Given the description of an element on the screen output the (x, y) to click on. 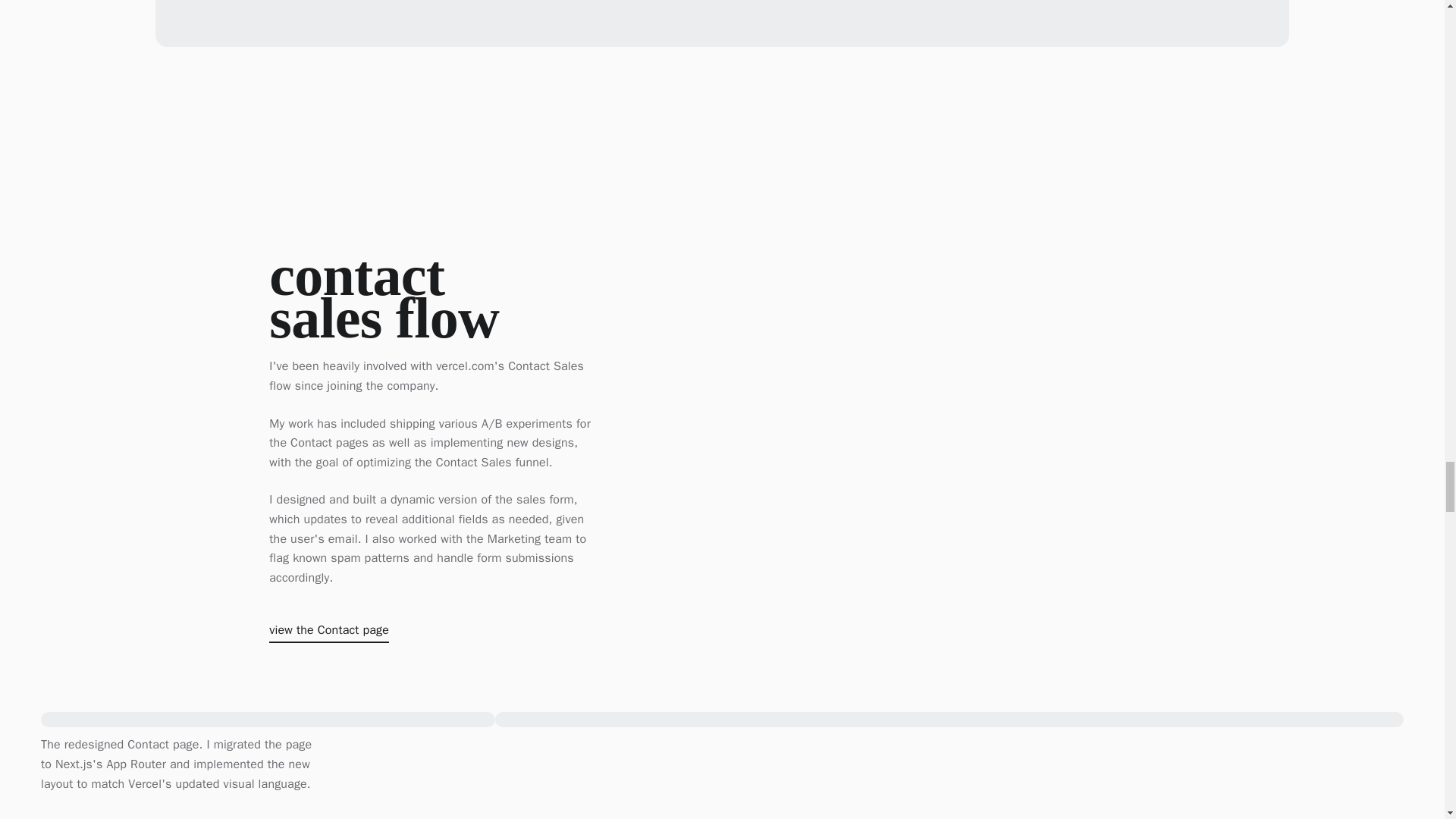
view the Contact page (328, 633)
